Given the description of an element on the screen output the (x, y) to click on. 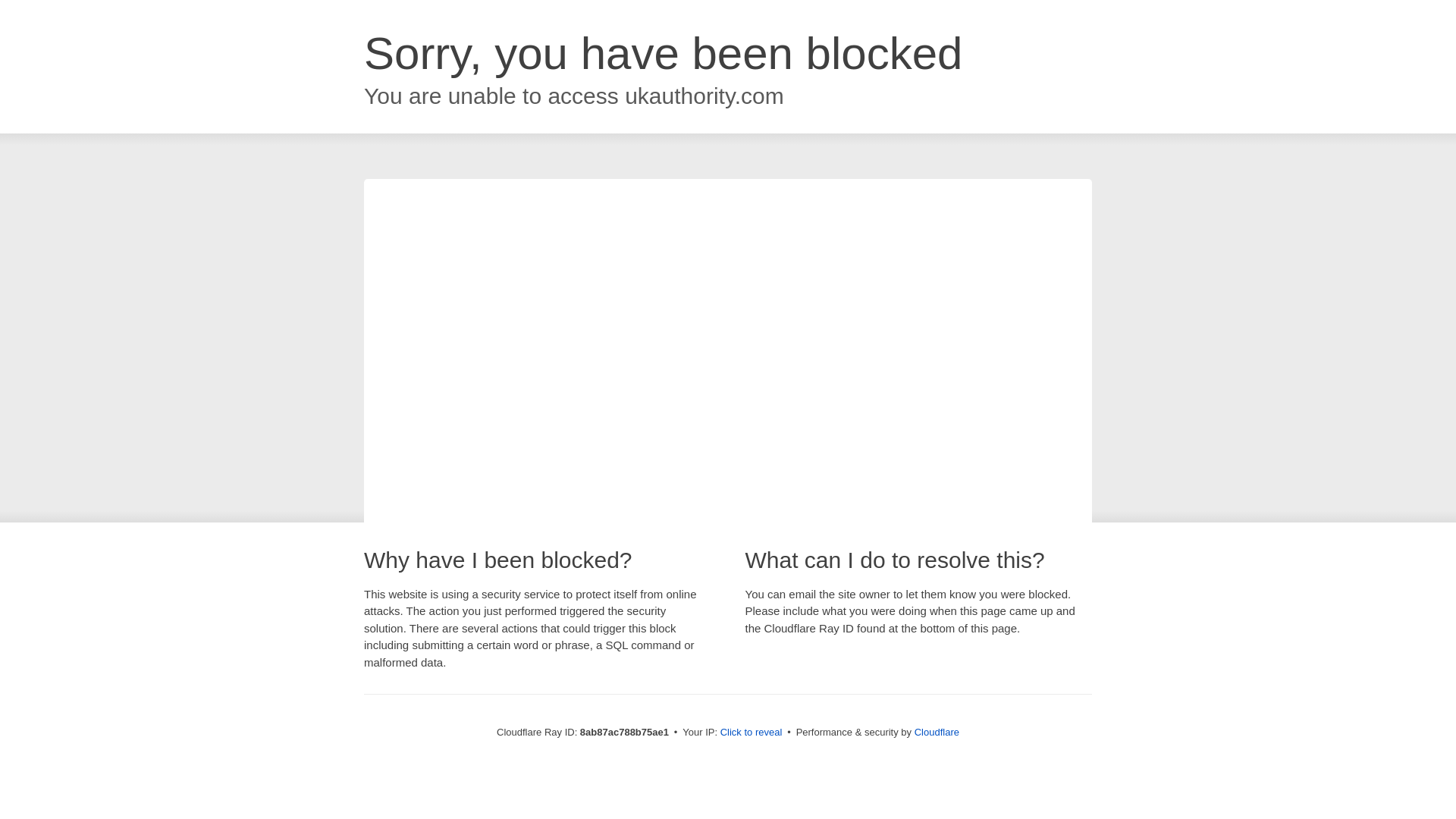
Cloudflare (936, 731)
Click to reveal (751, 732)
